Given the description of an element on the screen output the (x, y) to click on. 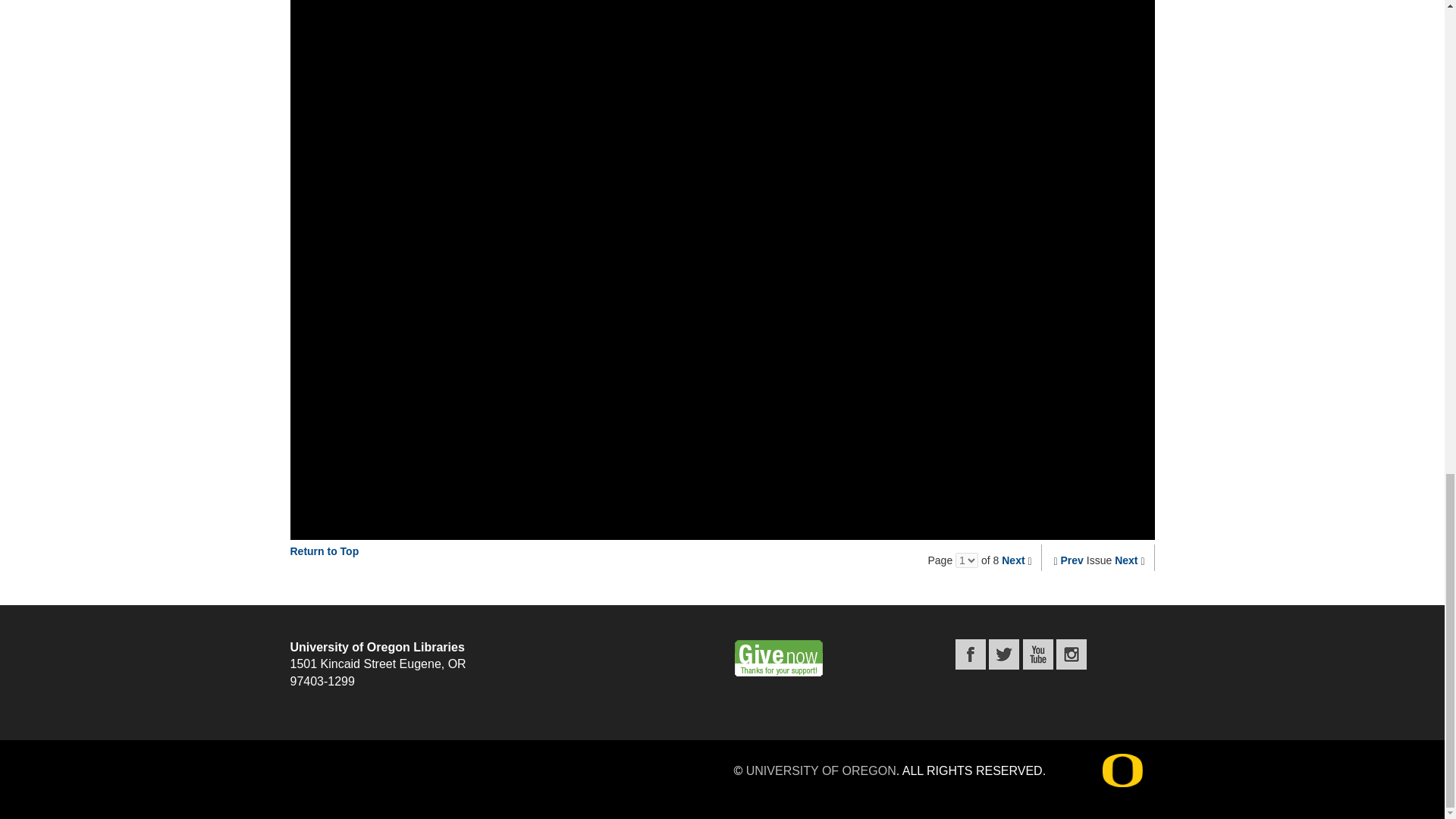
Prev (1072, 560)
Return to Top (323, 551)
Next (1126, 560)
Next (1013, 560)
